Given the description of an element on the screen output the (x, y) to click on. 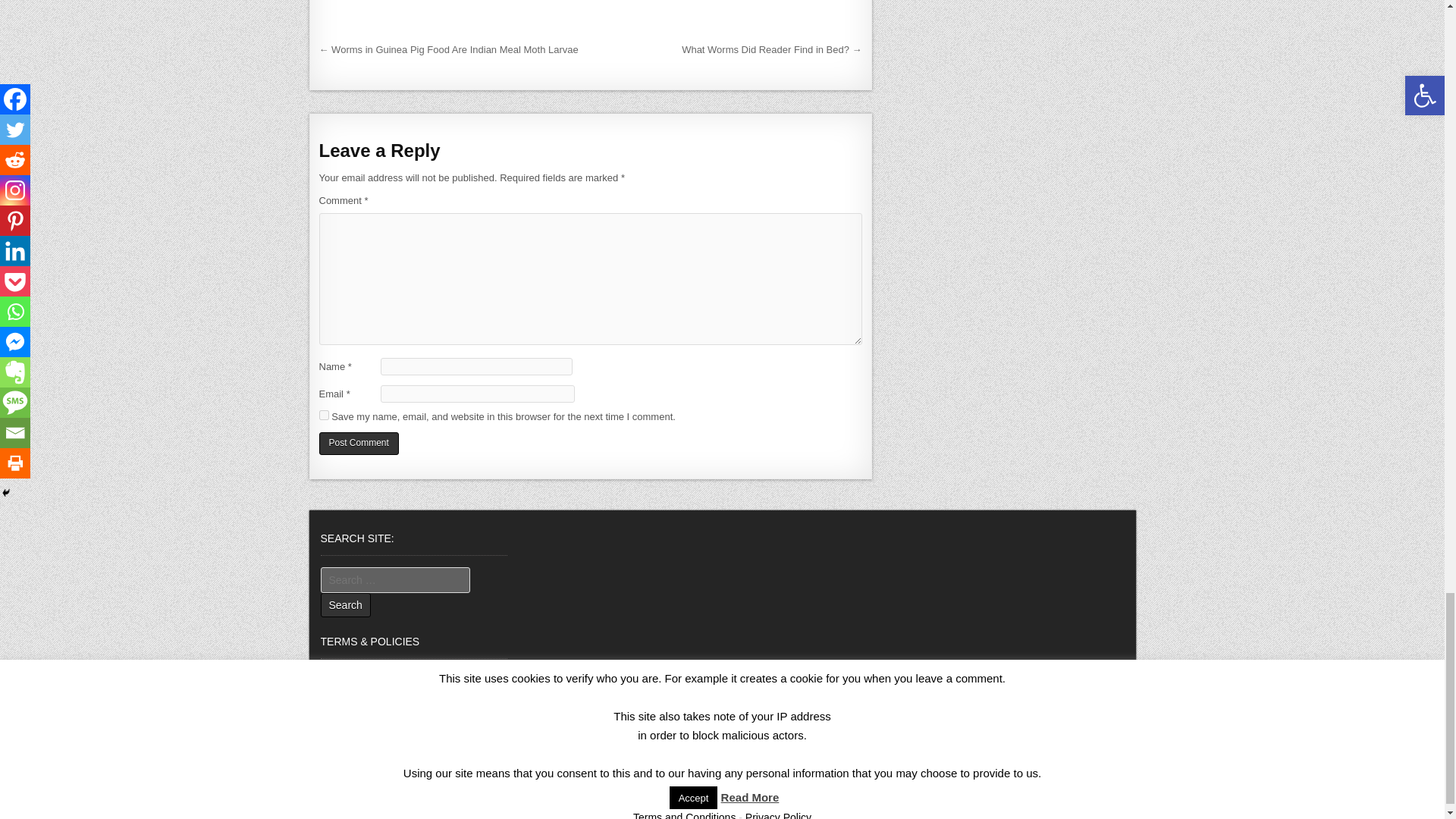
Post Comment (357, 443)
yes (323, 415)
Search (344, 604)
Search (344, 604)
